Given the description of an element on the screen output the (x, y) to click on. 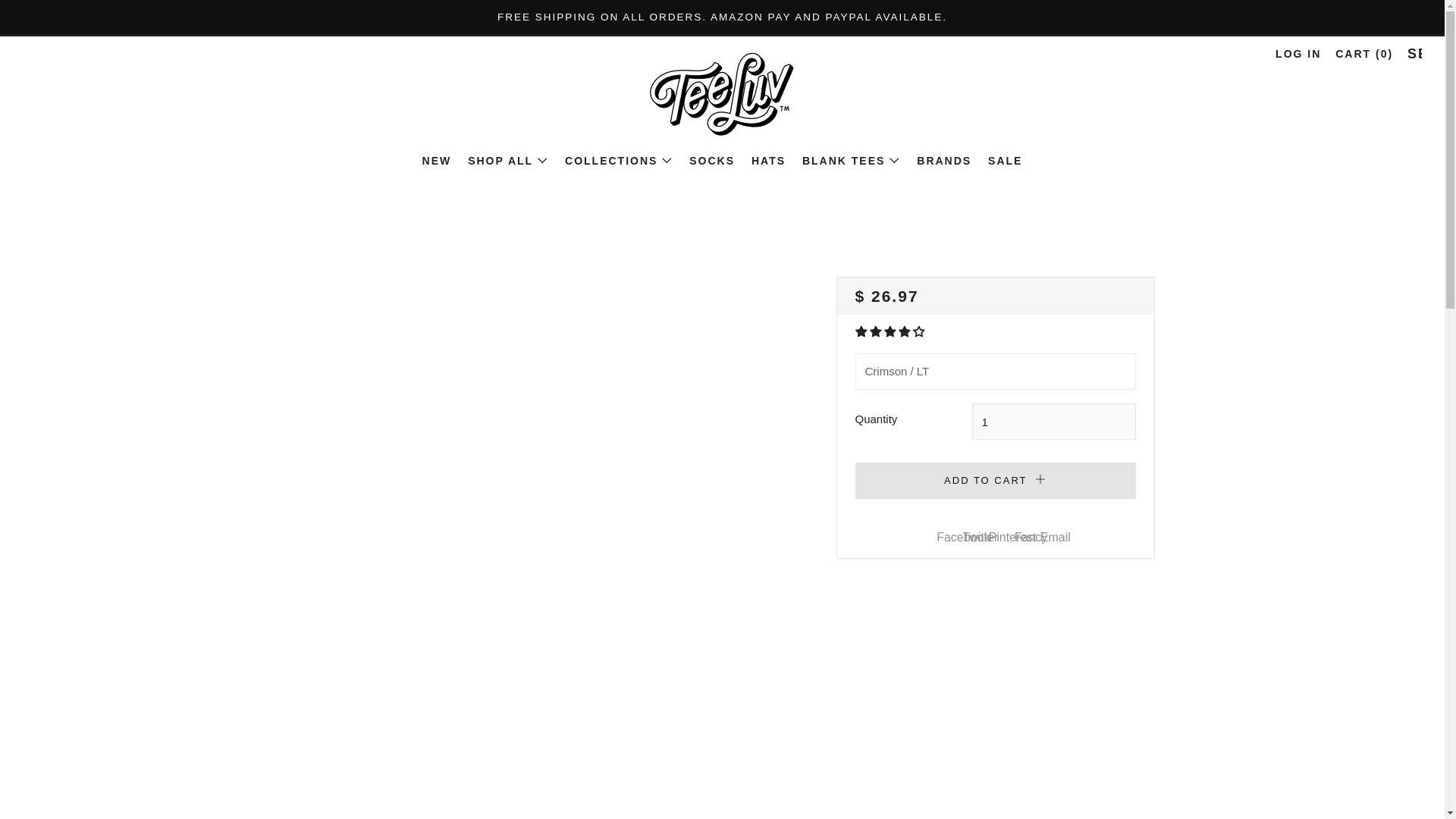
1 (1053, 421)
NEW (436, 160)
SHOP ALL (507, 160)
